Given the description of an element on the screen output the (x, y) to click on. 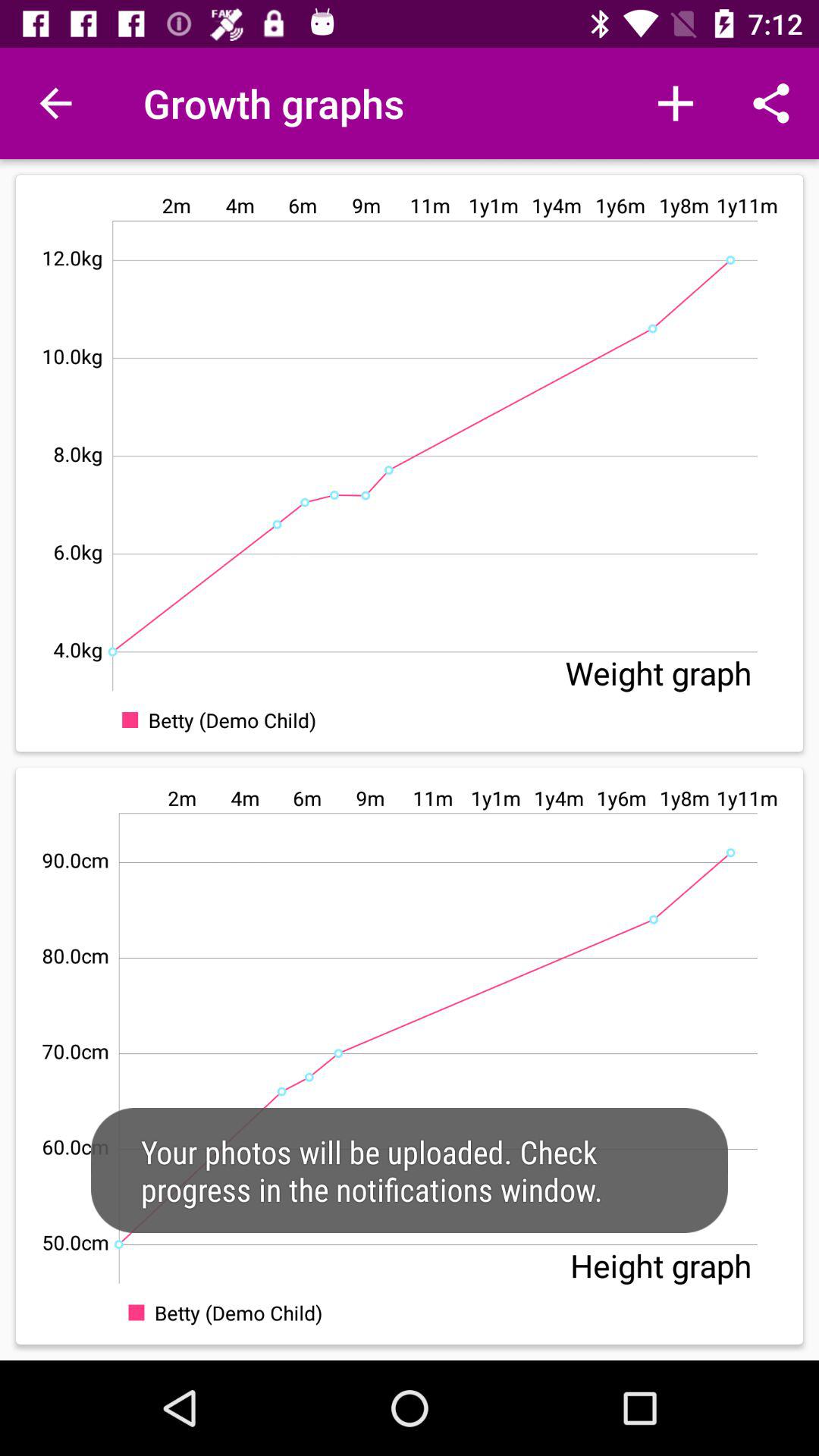
click app next to the growth graphs (55, 103)
